Given the description of an element on the screen output the (x, y) to click on. 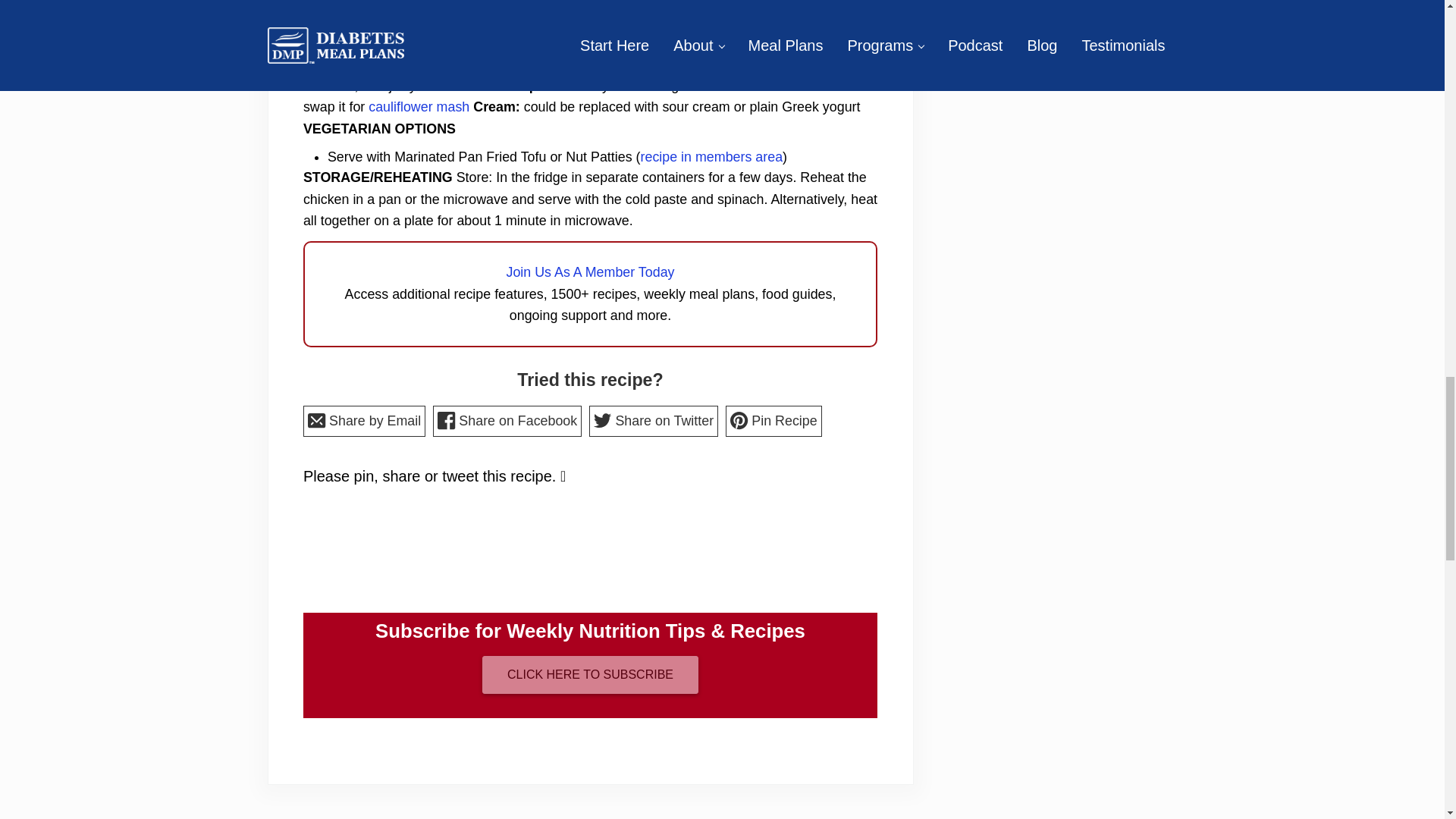
Share on Twitter (653, 420)
Share on Facebook (506, 420)
Pin Recipe (773, 420)
recipe in members area (711, 156)
Share by Email (363, 420)
cauliflower mash (418, 106)
Pinterest (556, 563)
Twitter (625, 563)
